Given the description of an element on the screen output the (x, y) to click on. 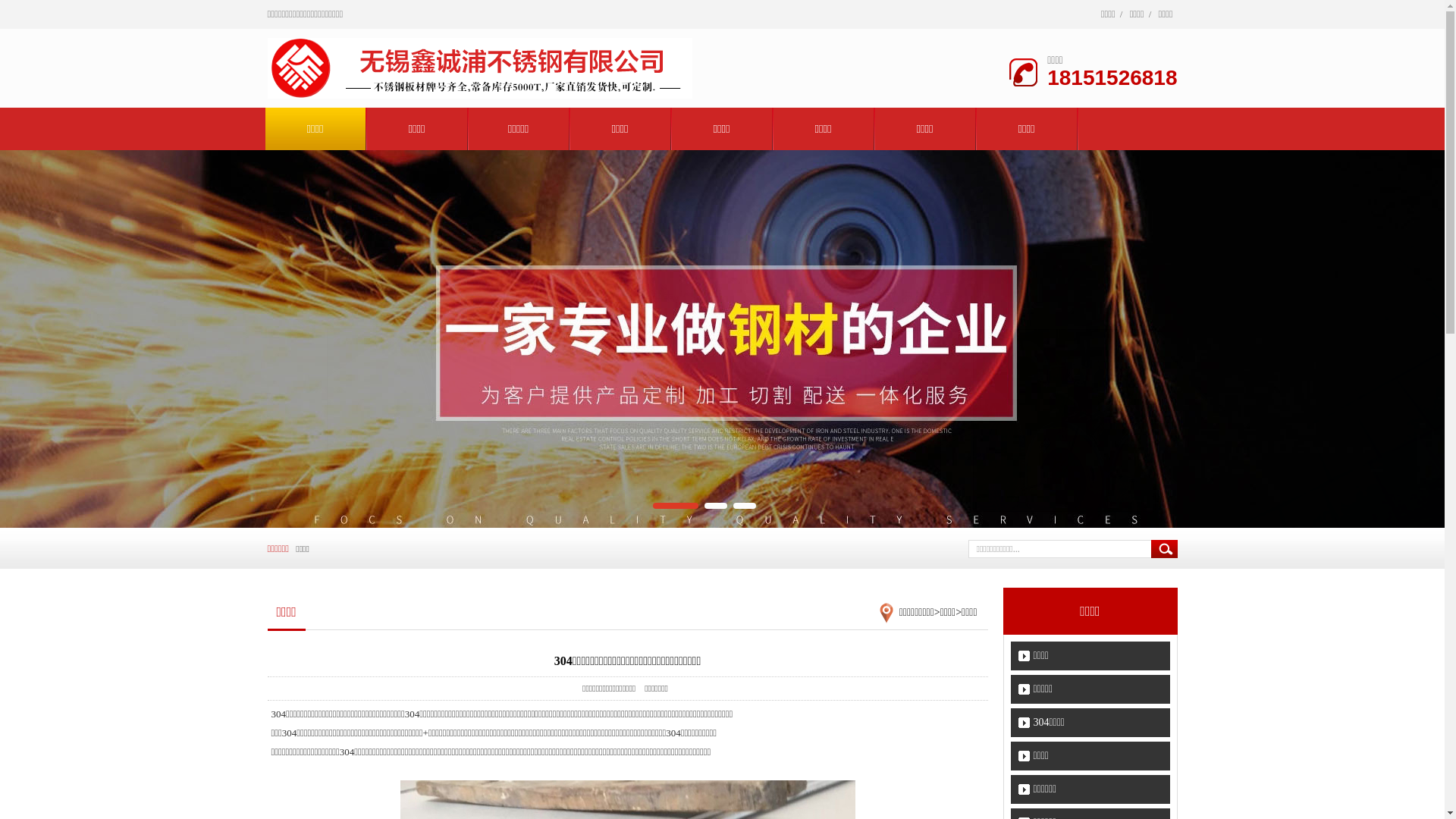
    Element type: text (1164, 548)
